Given the description of an element on the screen output the (x, y) to click on. 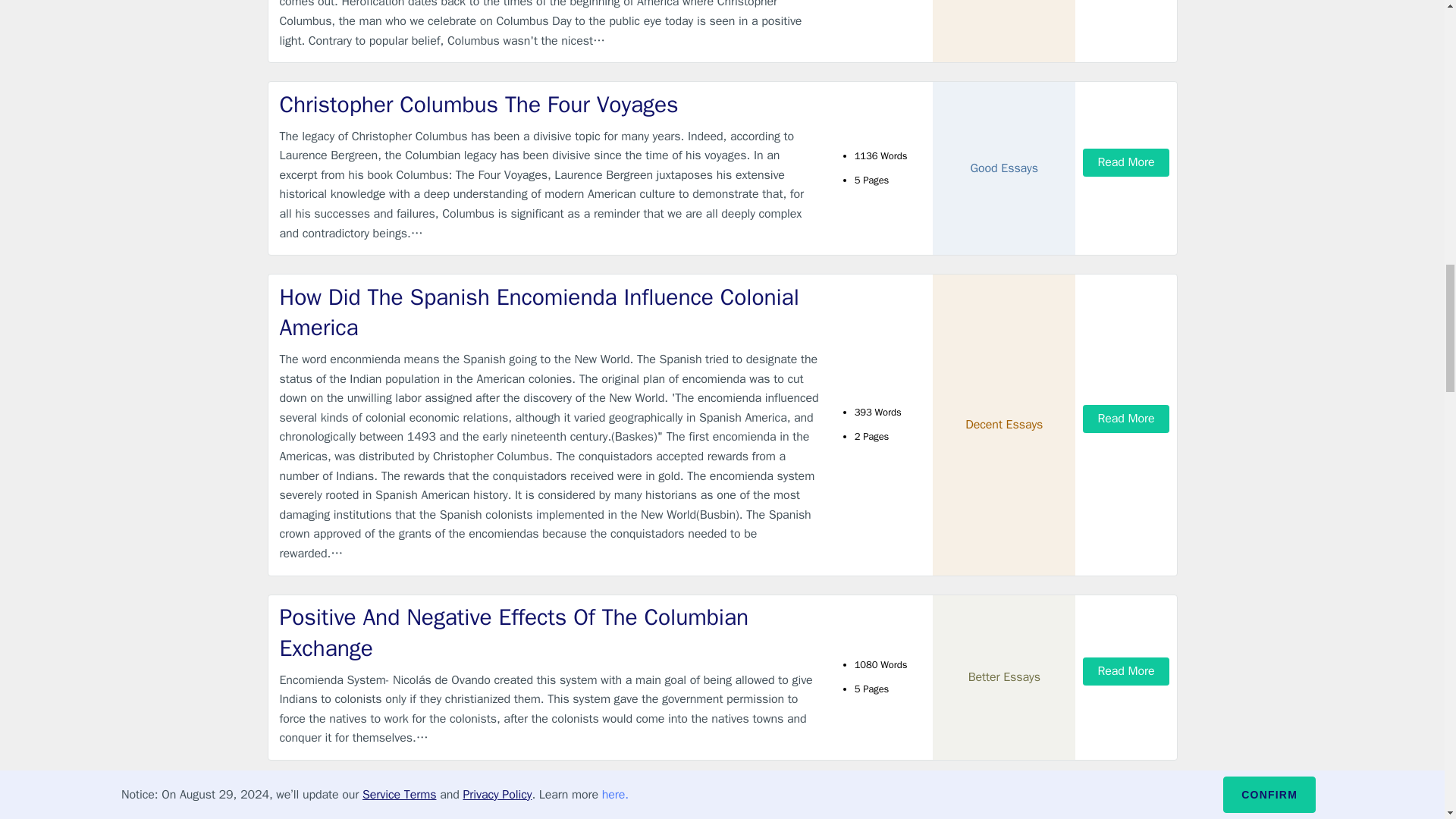
Positive And Negative Effects Of The Columbian Exchange (548, 632)
How Did The Spanish Encomienda Influence Colonial America (548, 312)
Christopher Columbus The Four Voyages (548, 104)
Columbus First Voyage (548, 802)
Read More (1126, 162)
Read More (1126, 418)
Read More (1126, 671)
Read More (1126, 808)
